Given the description of an element on the screen output the (x, y) to click on. 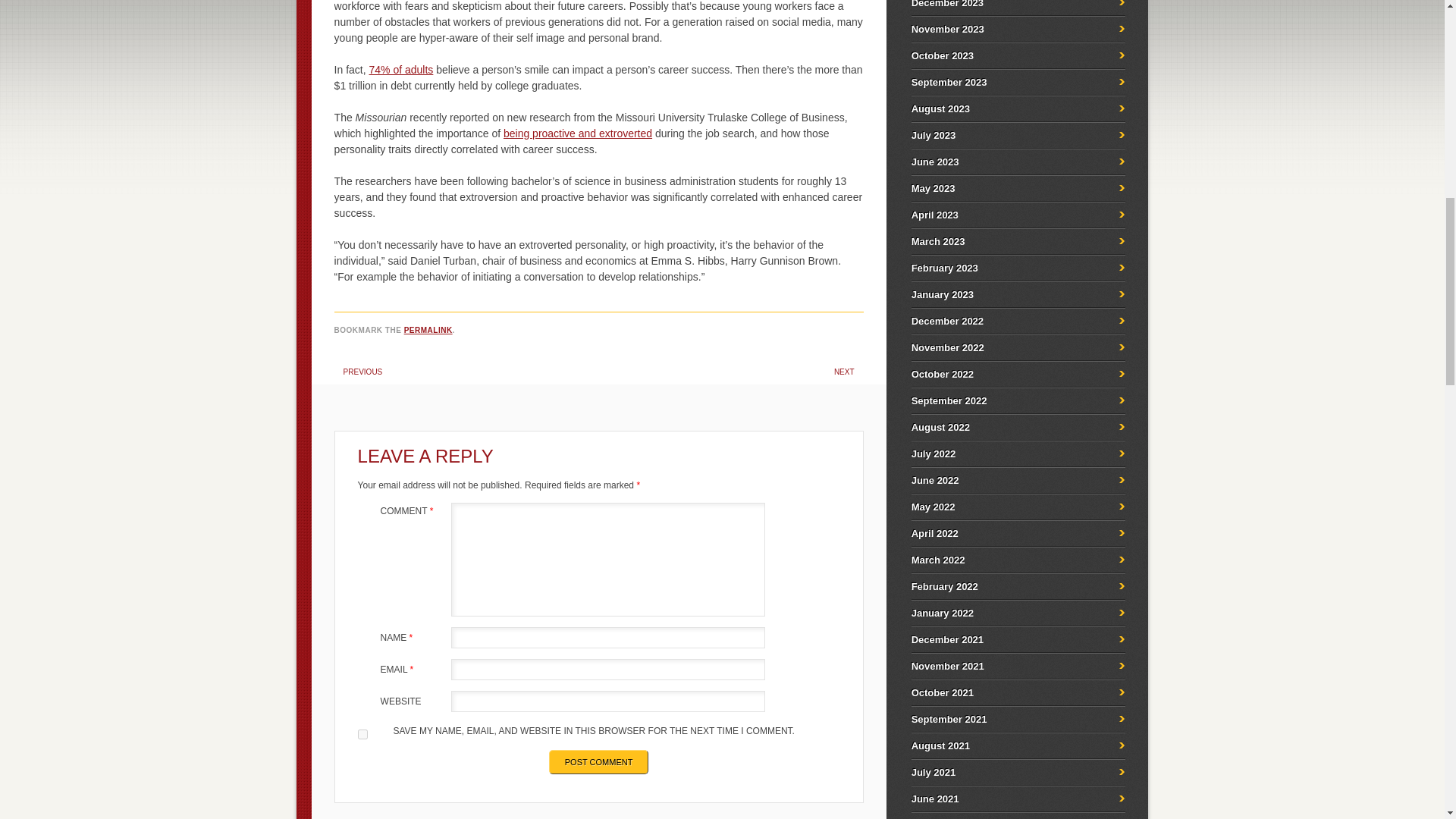
NEXT (844, 371)
Post Comment (598, 761)
November 2023 (947, 29)
being proactive and extroverted (577, 133)
Post Comment (598, 761)
PREVIOUS (362, 371)
yes (363, 734)
December 2023 (947, 4)
PERMALINK (428, 329)
